Given the description of an element on the screen output the (x, y) to click on. 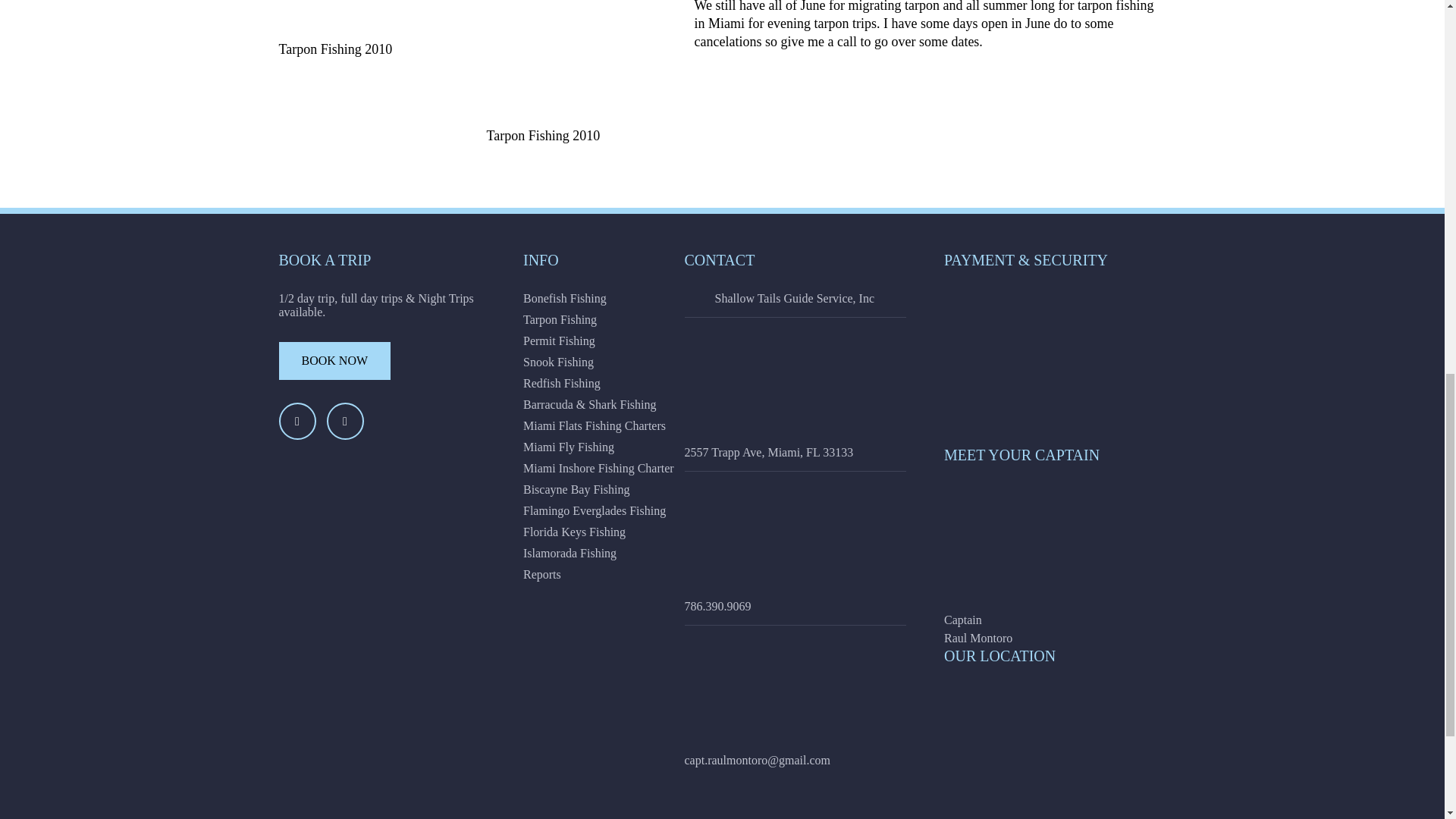
Snook Fishing (633, 362)
Permit Fishing (633, 341)
Tarpon Fishing (633, 319)
Miami Flats Fishing Charters (633, 426)
Visit Shallow Tails YT (344, 420)
BOOK NOW (335, 361)
Miami Fly Fishing (633, 447)
Bonefish Fishing (633, 298)
Visit Shallow Tails IG (297, 420)
Redfish Fishing (633, 383)
